Given the description of an element on the screen output the (x, y) to click on. 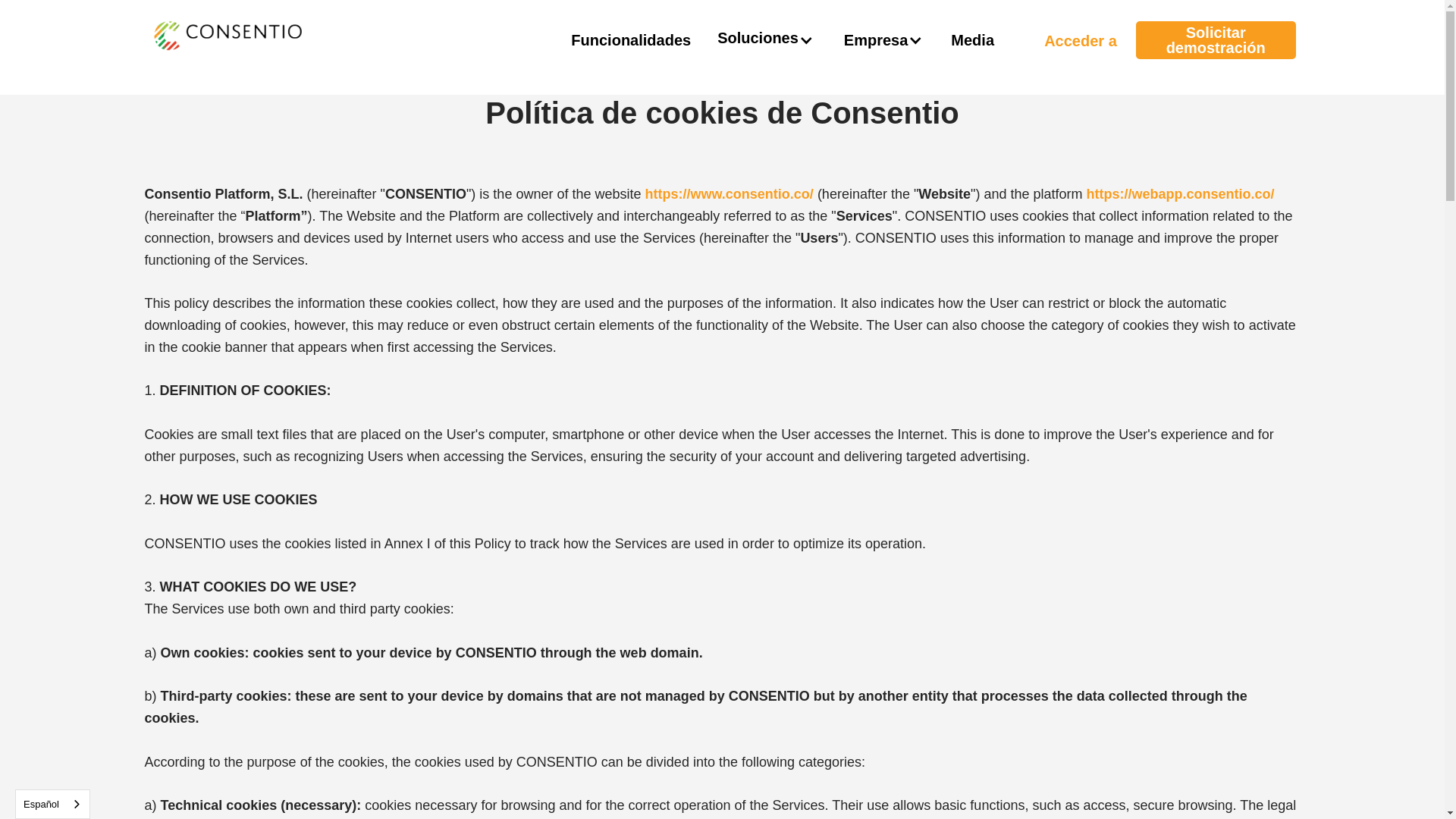
Media (972, 40)
Acceder a (1069, 39)
Funcionalidades (631, 40)
